Given the description of an element on the screen output the (x, y) to click on. 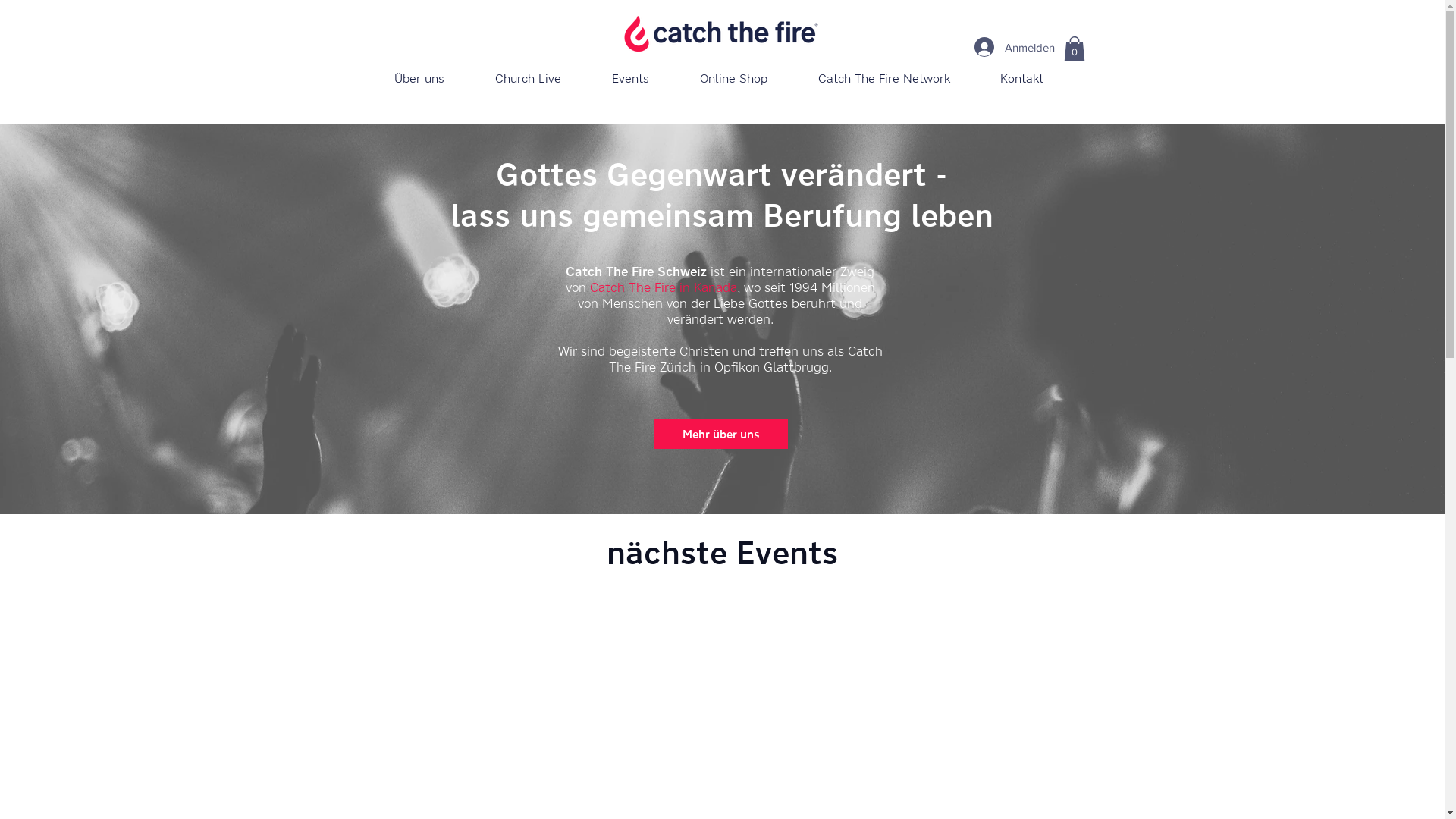
0 Element type: text (1073, 48)
Events Element type: text (630, 77)
Church Live Element type: text (528, 77)
Kontakt Element type: text (1021, 77)
Catch The Fire in Kanada Element type: text (663, 286)
Anmelden Element type: text (1008, 46)
